Given the description of an element on the screen output the (x, y) to click on. 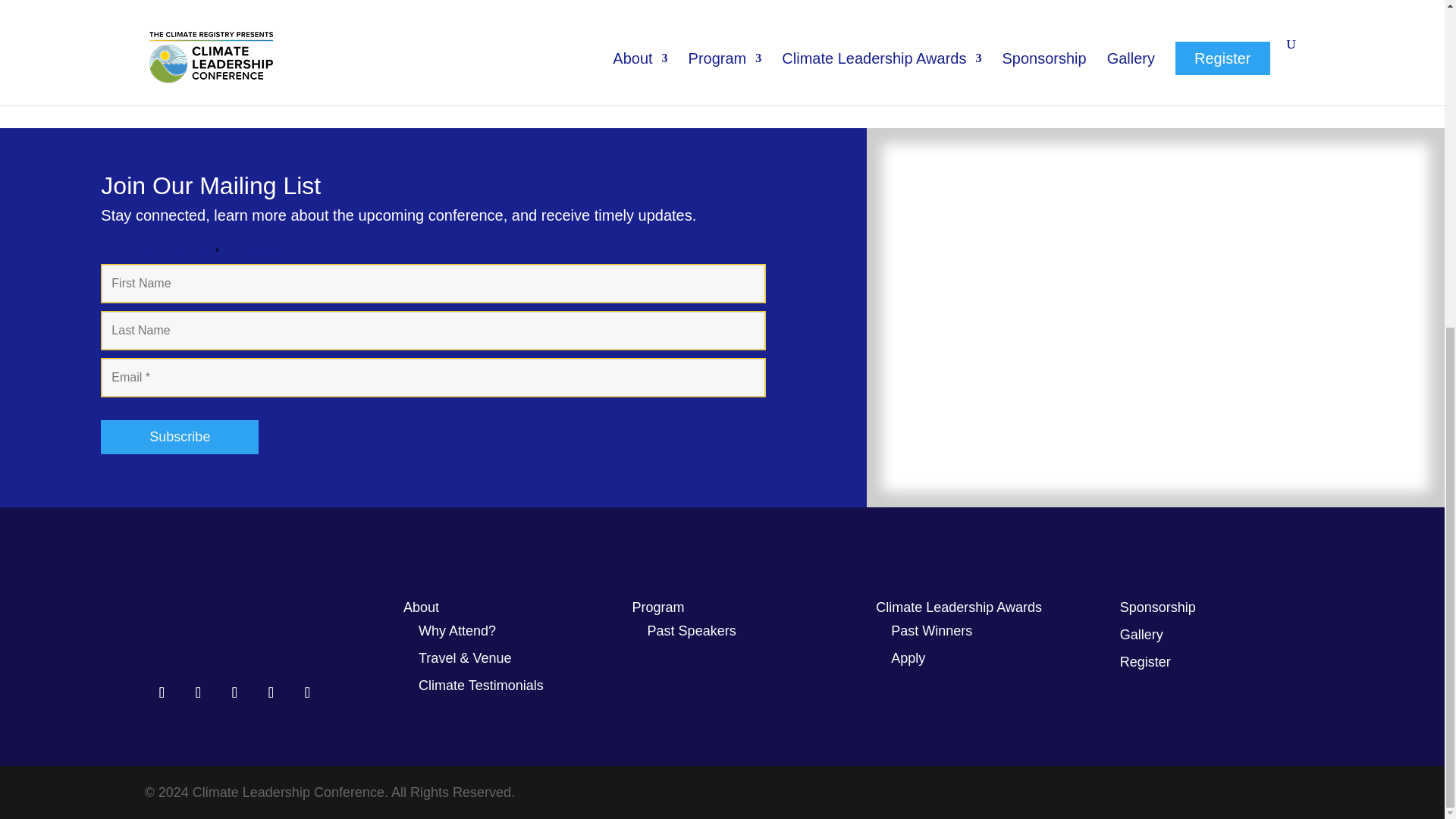
Follow on RSS (306, 692)
Follow on X (233, 692)
Subscribe (179, 437)
Follow on Youtube (270, 692)
Follow on Instagram (161, 692)
Why Attend? (457, 630)
final-logo-white (234, 633)
Follow on LinkedIn (197, 692)
Subscribe (179, 437)
About (421, 607)
